Given the description of an element on the screen output the (x, y) to click on. 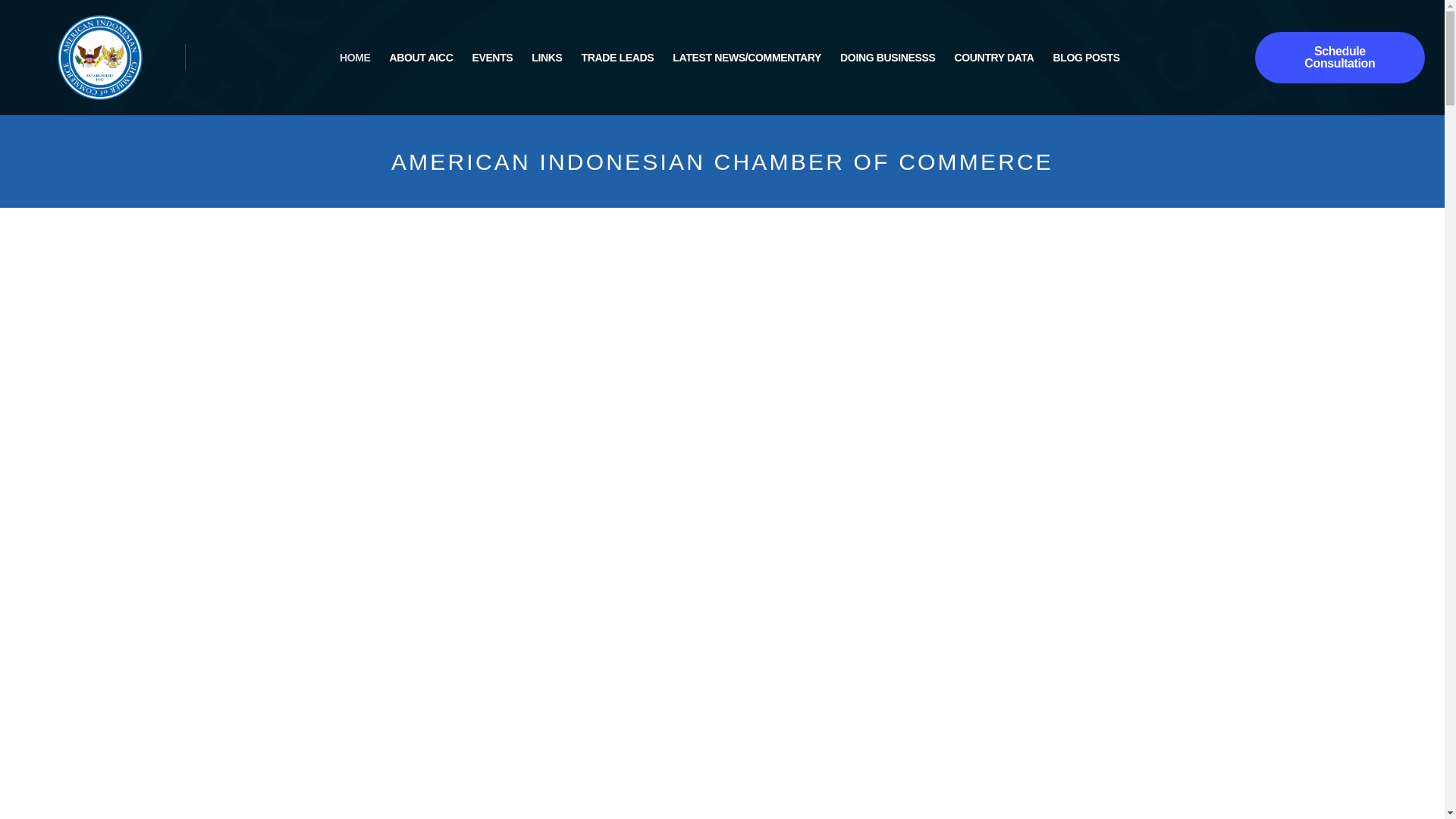
TRADE LEADS (616, 57)
EVENTS (491, 57)
LINKS (546, 57)
DOING BUSINESSS (887, 57)
ABOUT AICC (421, 57)
HOME (355, 57)
COUNTRY DATA (994, 57)
